Given the description of an element on the screen output the (x, y) to click on. 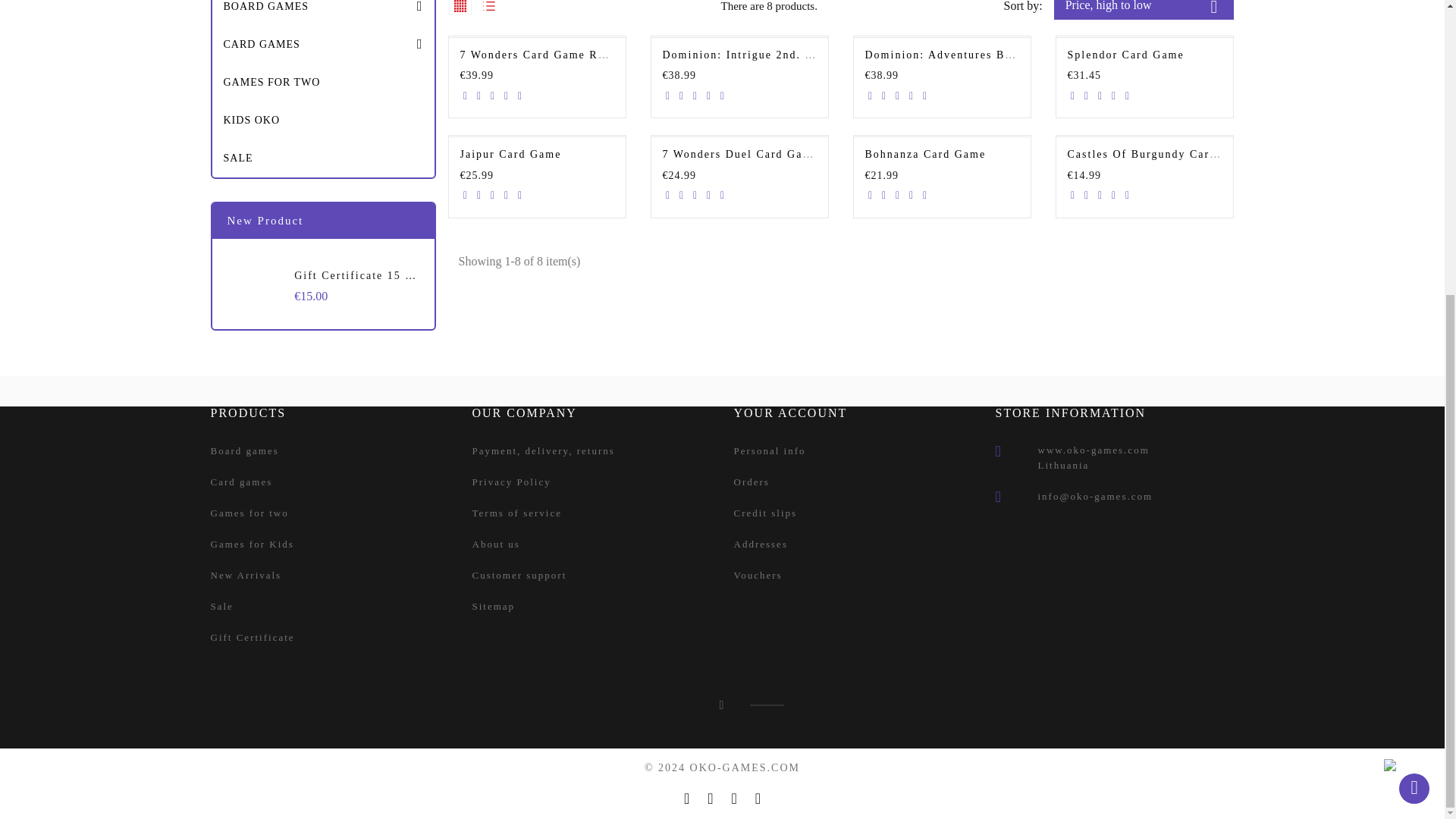
CARD GAMES (322, 44)
BOARD GAMES (322, 12)
